Given the description of an element on the screen output the (x, y) to click on. 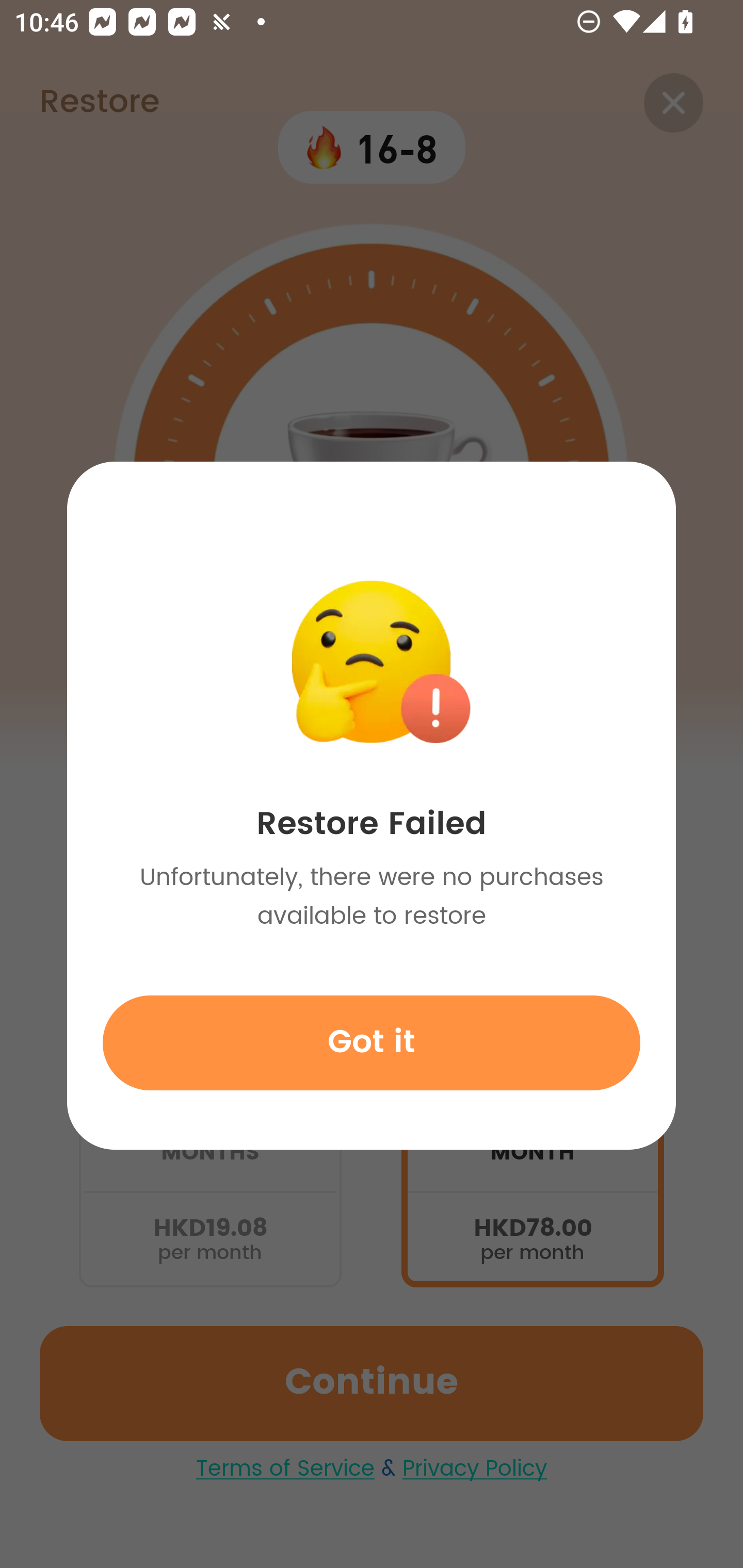
Got it (371, 1042)
